Given the description of an element on the screen output the (x, y) to click on. 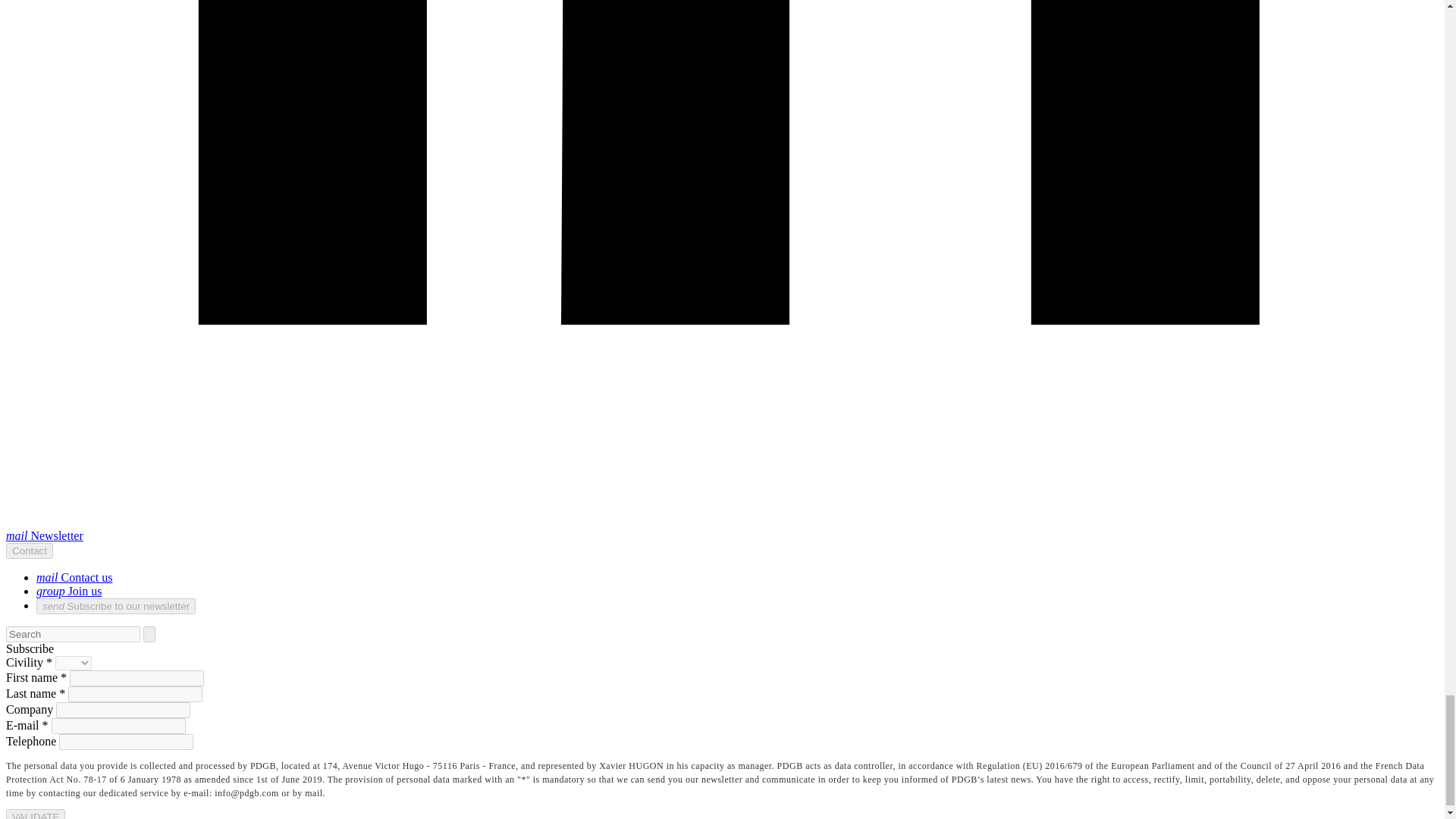
mail Contact us (74, 576)
group Join us (68, 590)
Contact (28, 550)
send Subscribe to our newsletter (115, 606)
mail Newsletter (43, 535)
